Given the description of an element on the screen output the (x, y) to click on. 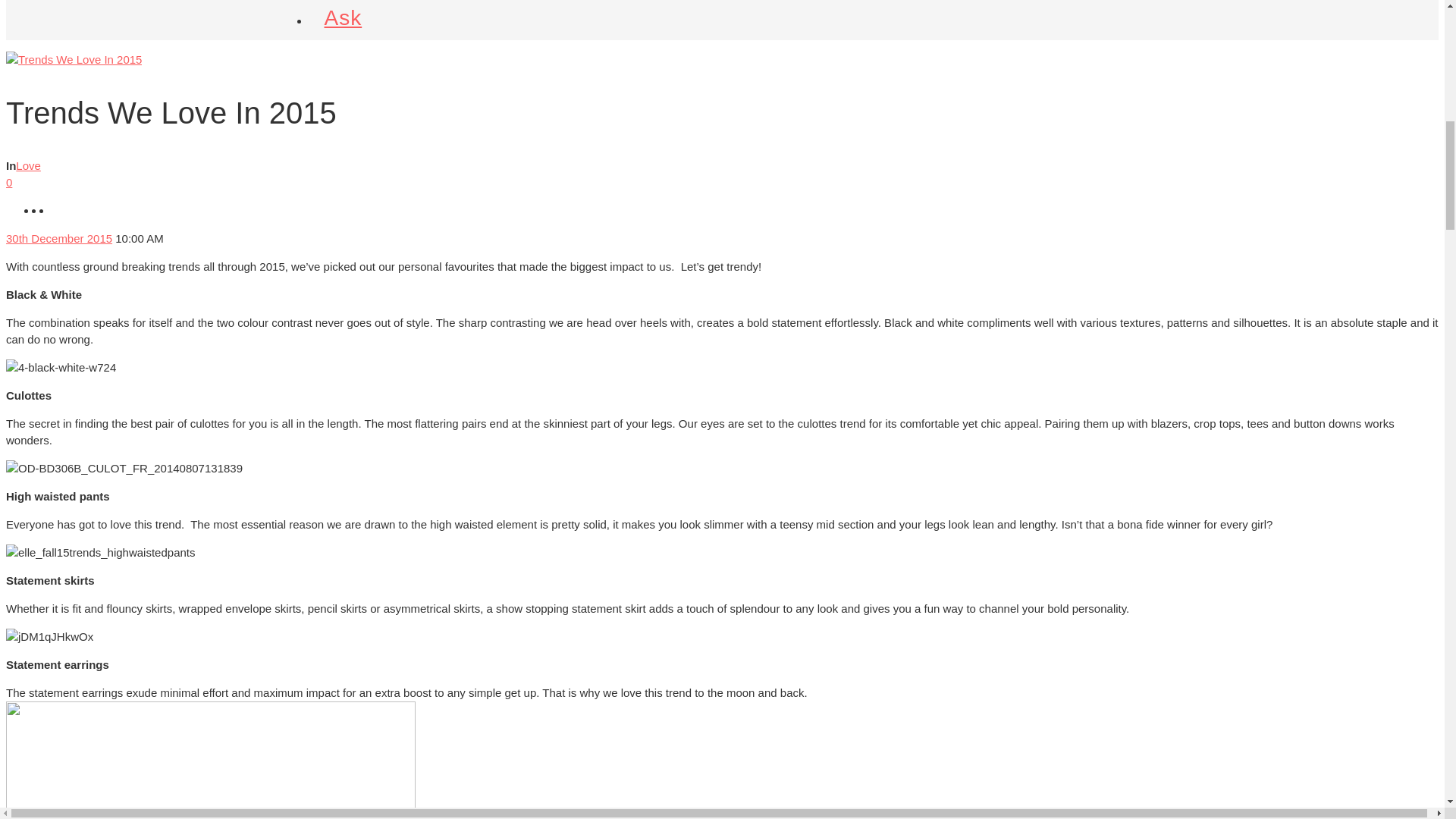
Love, Style (28, 164)
30th December 2015 (58, 237)
Love (28, 164)
Ask (342, 17)
